Given the description of an element on the screen output the (x, y) to click on. 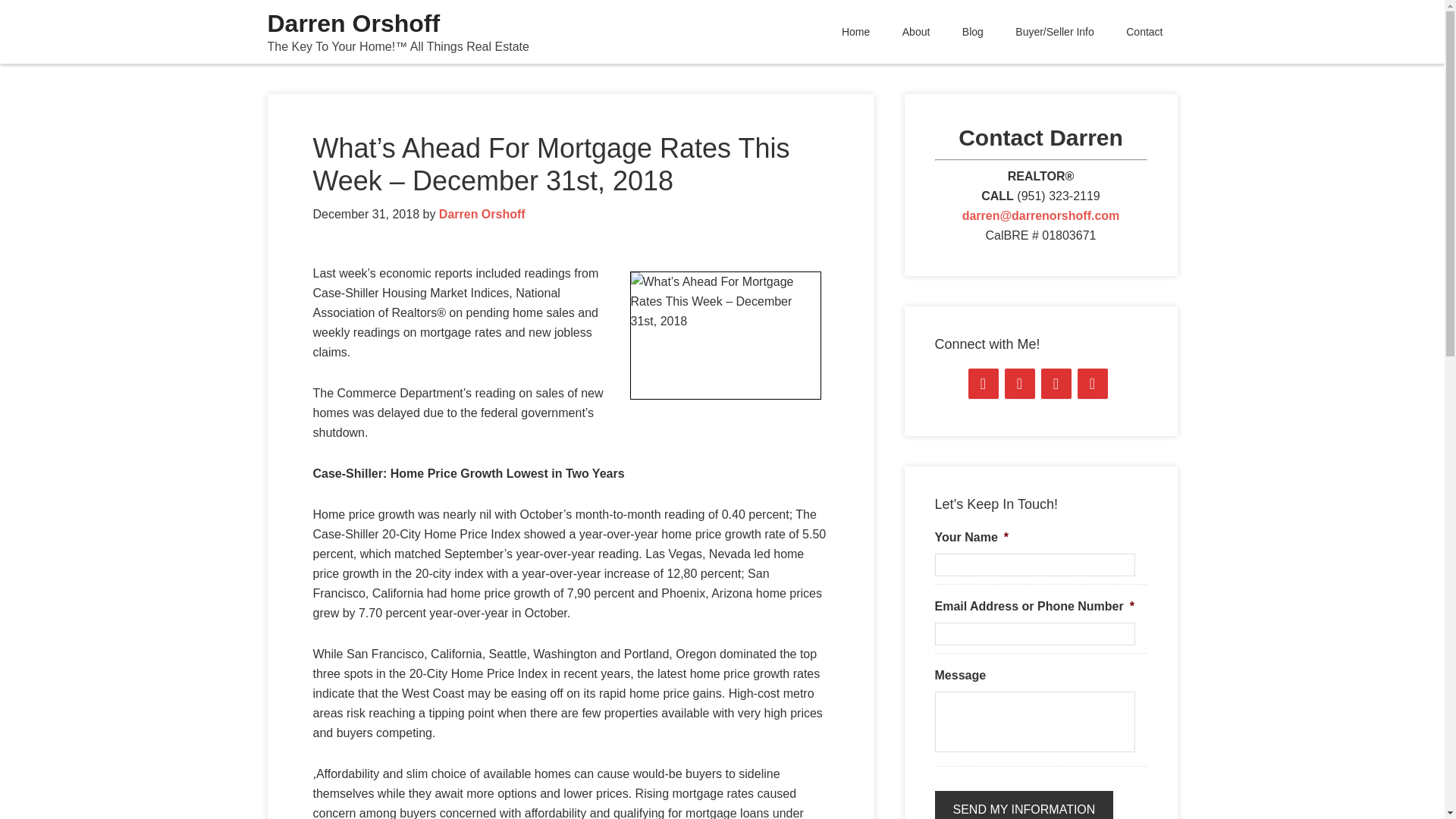
Send My Information (1023, 805)
About (916, 31)
Blog (972, 31)
Contact (1144, 31)
Home (855, 31)
Darren Orshoff (352, 22)
Darren Orshoff (482, 214)
Send My Information (1023, 805)
